Given the description of an element on the screen output the (x, y) to click on. 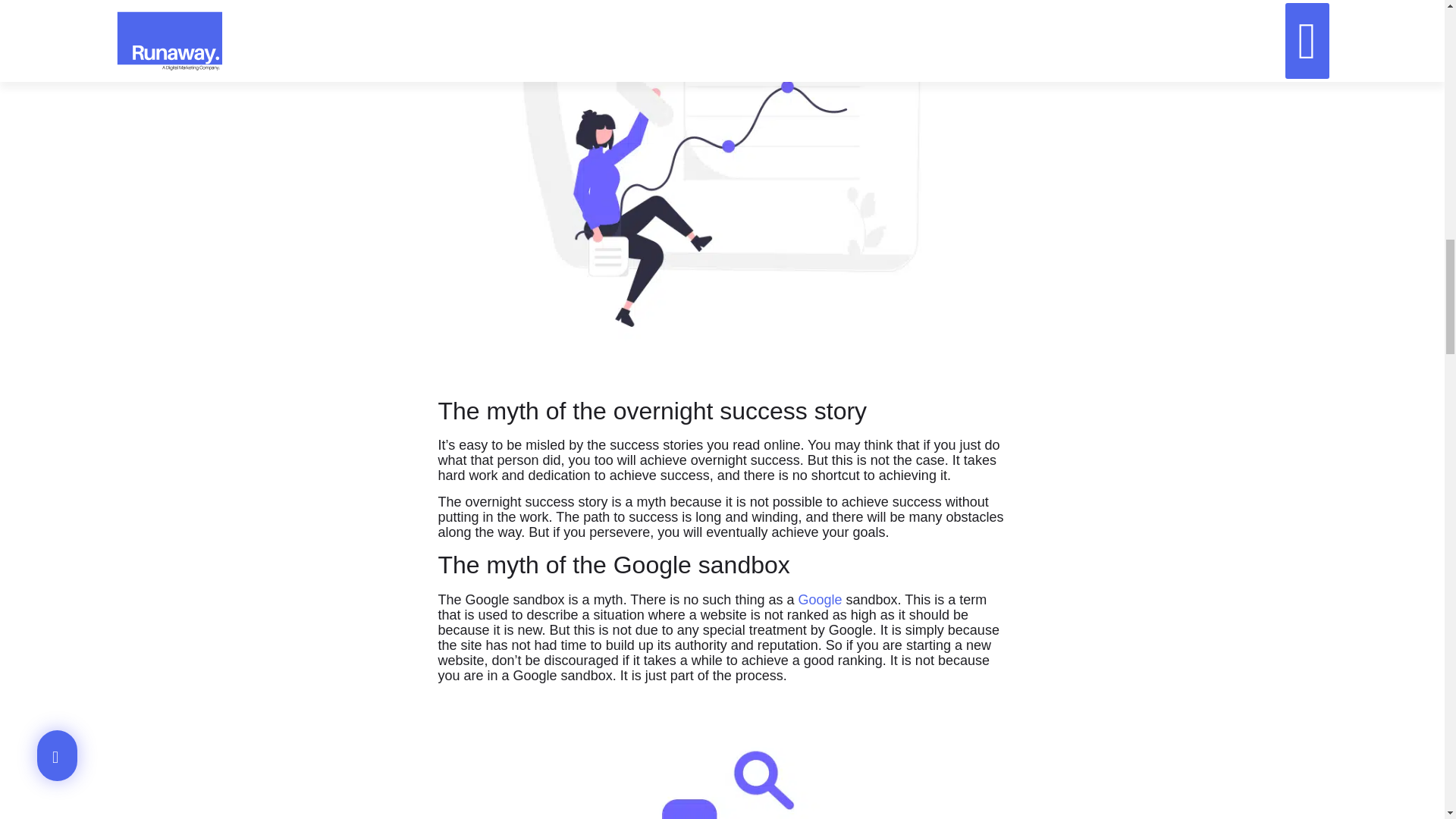
Image for 8 SEO Myths That You Can Ignore (722, 756)
Google (819, 599)
